Given the description of an element on the screen output the (x, y) to click on. 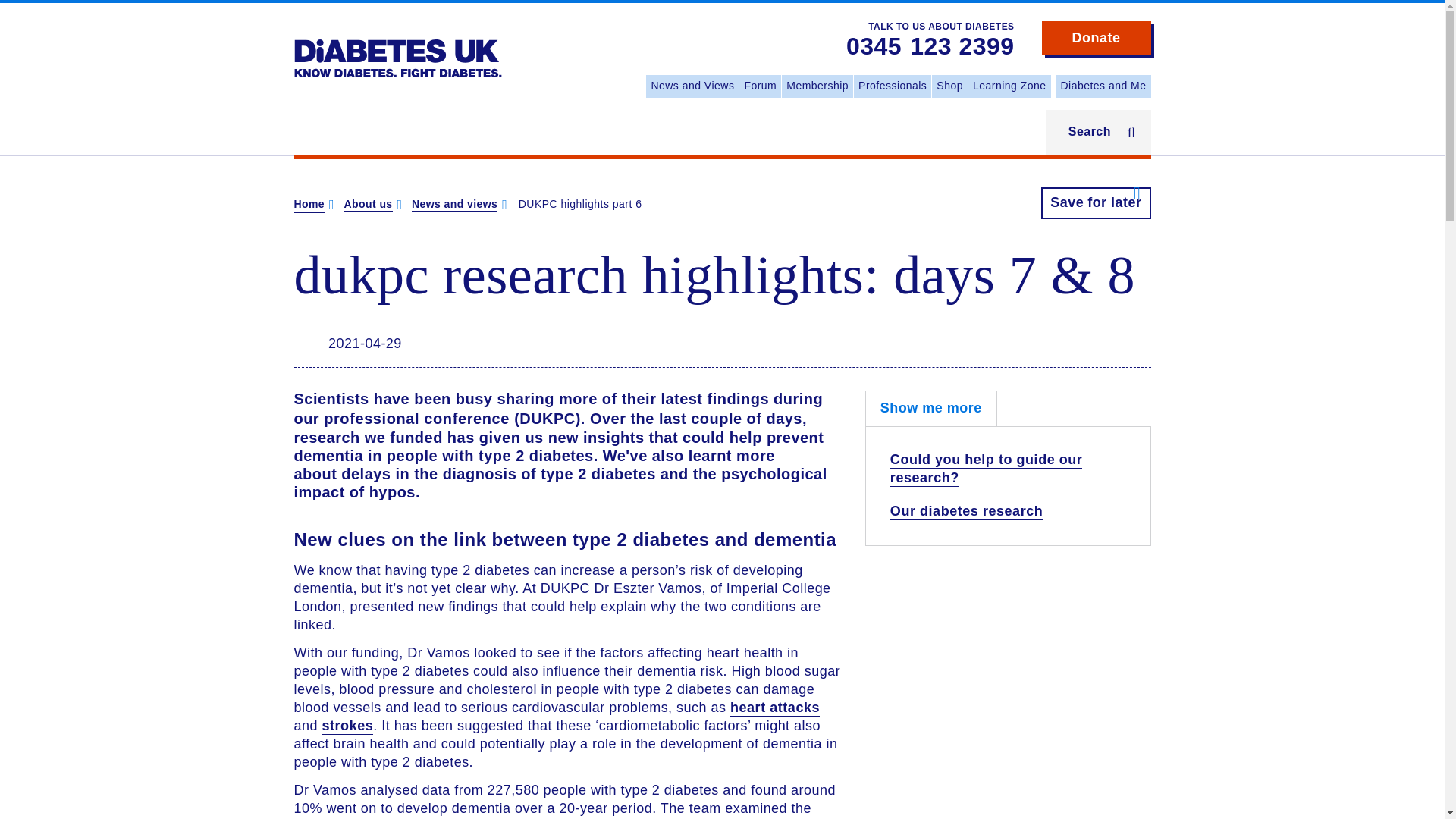
professional conference (418, 419)
0345123 2399 (929, 46)
Search (1098, 132)
heart attacks (774, 708)
Diabetes and Me (1102, 86)
strokes (346, 726)
Professionals (892, 86)
Forum (759, 86)
Donate (1096, 37)
Shop (949, 86)
Learning Zone (1009, 86)
Membership (817, 86)
News and Views (692, 86)
About us (368, 204)
Home (309, 204)
